Given the description of an element on the screen output the (x, y) to click on. 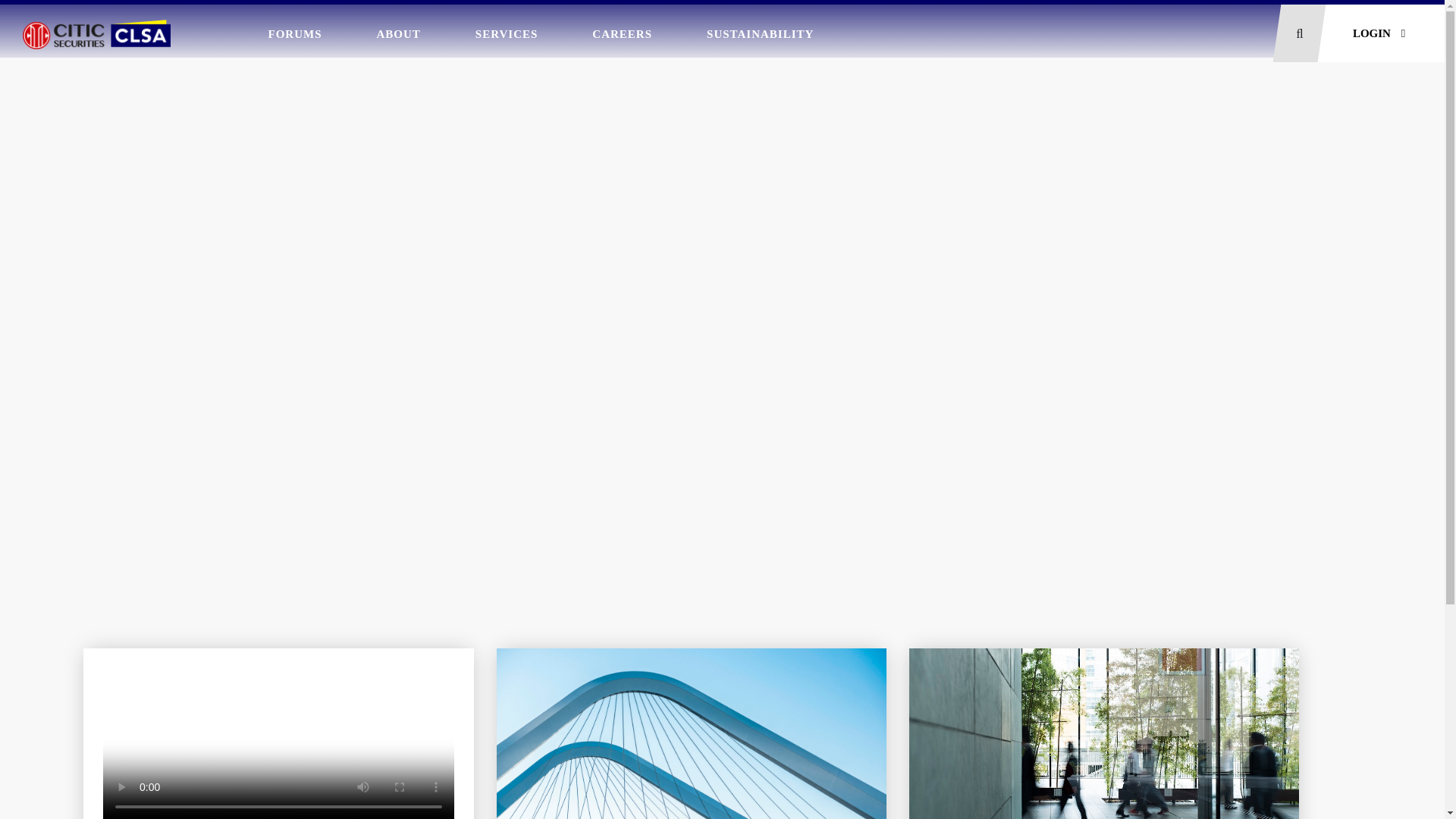
ABOUT (397, 33)
SERVICES (506, 33)
FORUMS (295, 33)
